Given the description of an element on the screen output the (x, y) to click on. 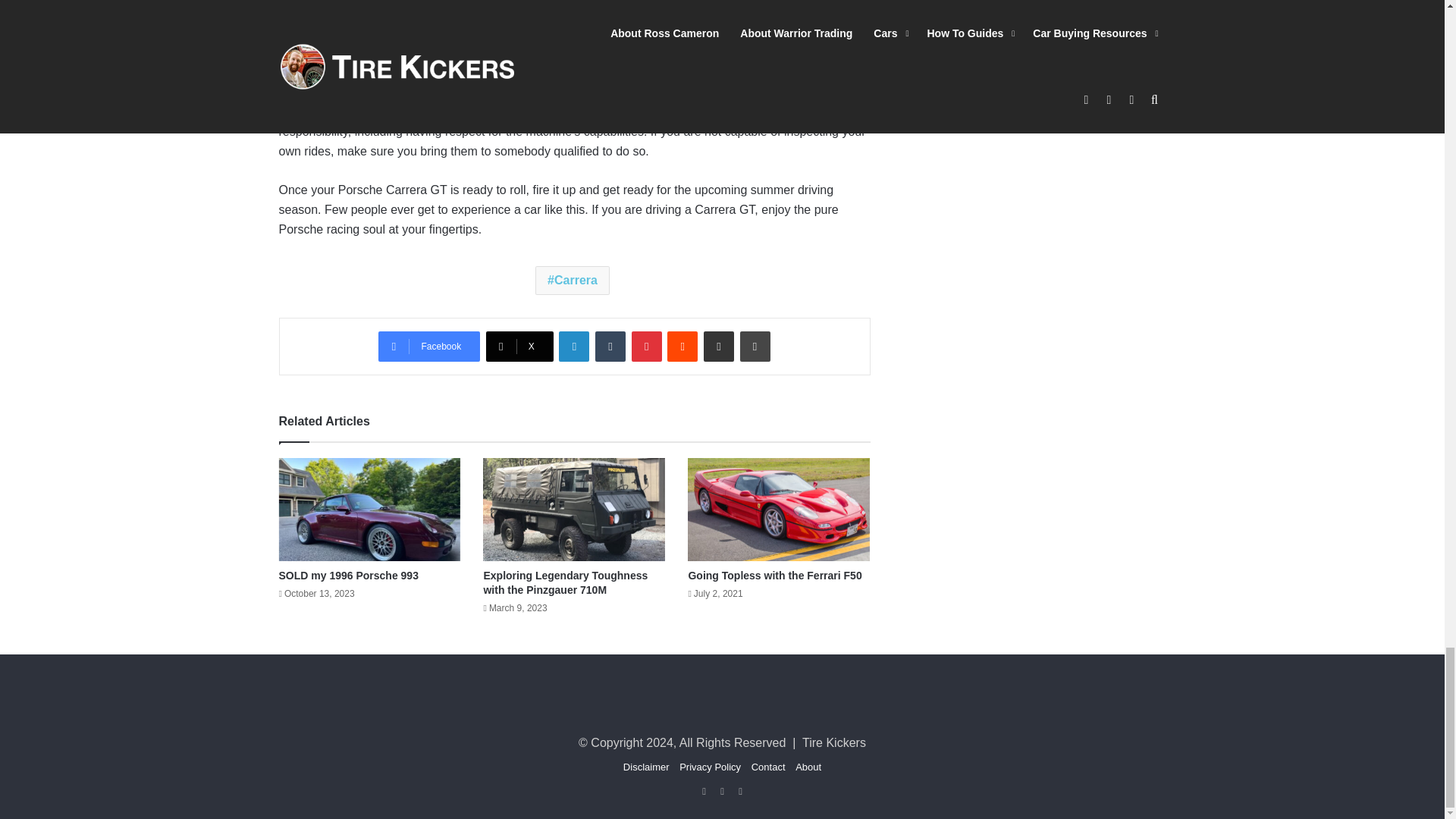
Share via Email (718, 346)
SOLD my 1996 Porsche 993 (349, 575)
Reddit (681, 346)
Print (754, 346)
LinkedIn (574, 346)
Pinterest (646, 346)
Pinterest (646, 346)
Share via Email (718, 346)
Exploring Legendary Toughness with the Pinzgauer 710M (565, 582)
Print (754, 346)
